Given the description of an element on the screen output the (x, y) to click on. 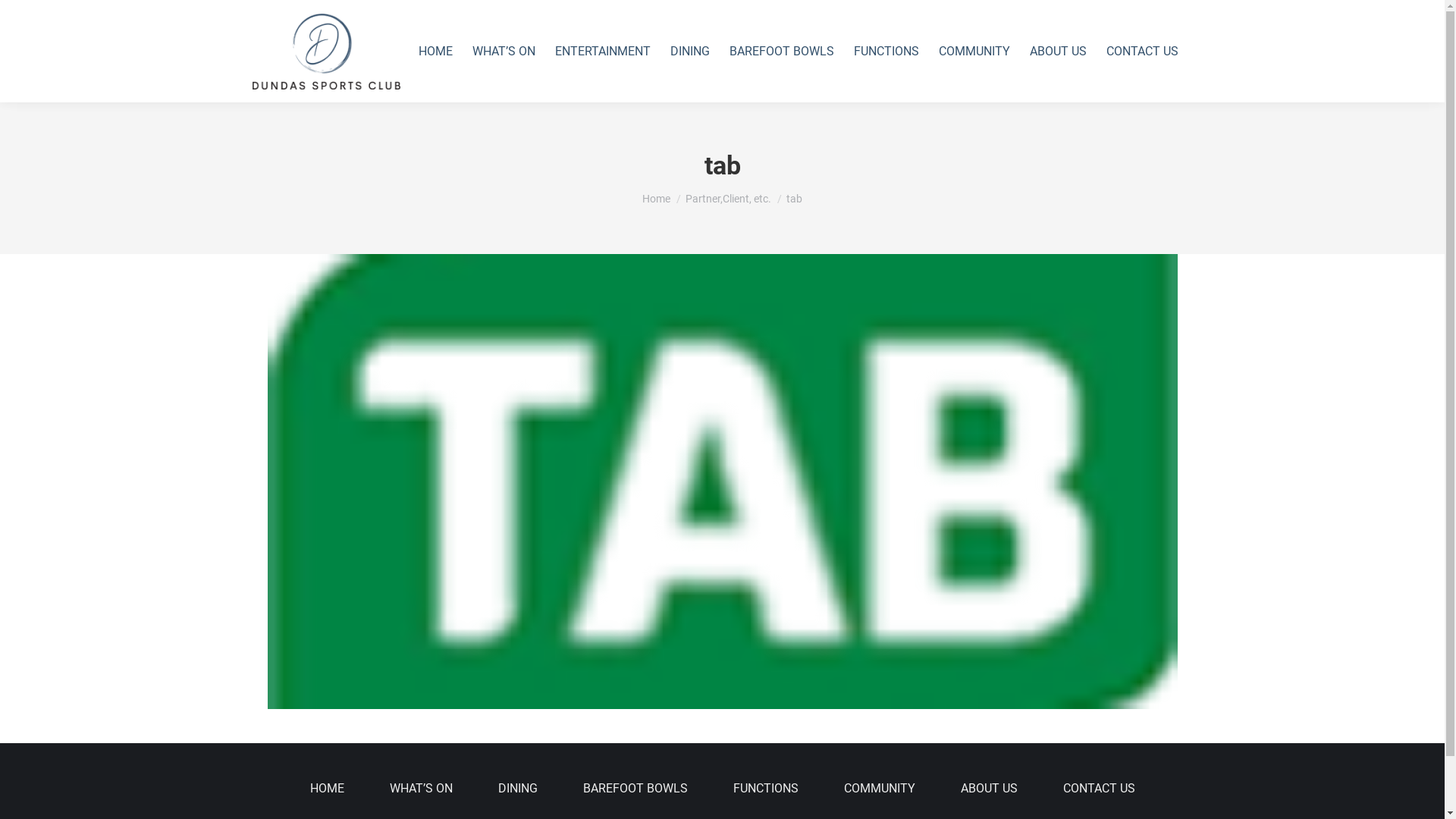
CONTACT US Element type: text (1142, 50)
FUNCTIONS Element type: text (885, 50)
ABOUT US Element type: text (1057, 50)
COMMUNITY Element type: text (973, 50)
ABOUT US Element type: text (988, 788)
DINING Element type: text (689, 50)
DINING Element type: text (517, 788)
HOME Element type: text (434, 50)
Home Element type: text (656, 198)
COMMUNITY Element type: text (878, 788)
HOME Element type: text (326, 788)
BAREFOOT BOWLS Element type: text (634, 788)
ENTERTAINMENT Element type: text (602, 50)
BAREFOOT BOWLS Element type: text (780, 50)
tab Element type: hover (721, 481)
CONTACT US Element type: text (1098, 788)
Partner,Client, etc. Element type: text (728, 198)
FUNCTIONS Element type: text (765, 788)
